Given the description of an element on the screen output the (x, y) to click on. 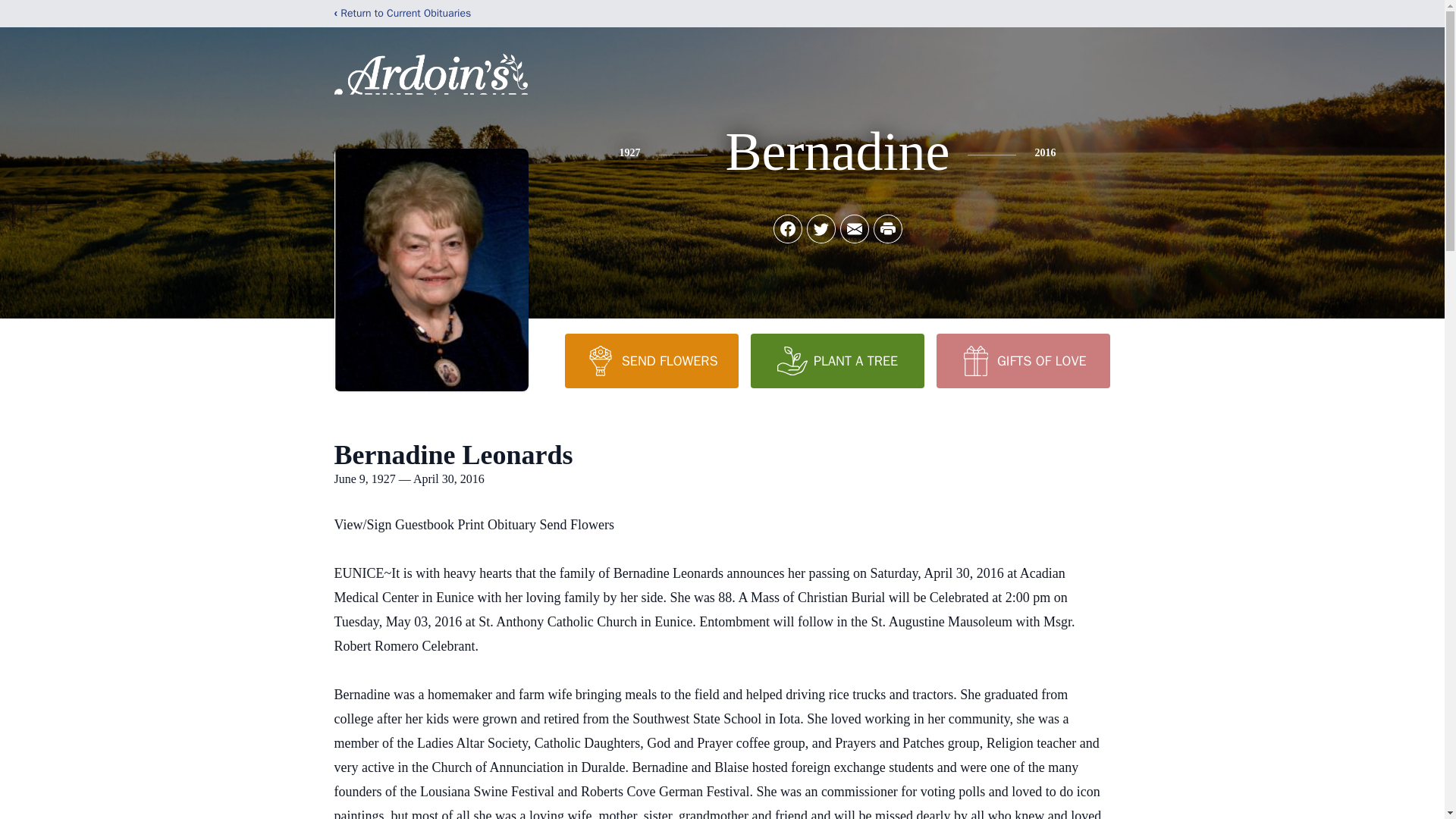
GIFTS OF LOVE (1022, 360)
PLANT A TREE (837, 360)
SEND FLOWERS (651, 360)
